Given the description of an element on the screen output the (x, y) to click on. 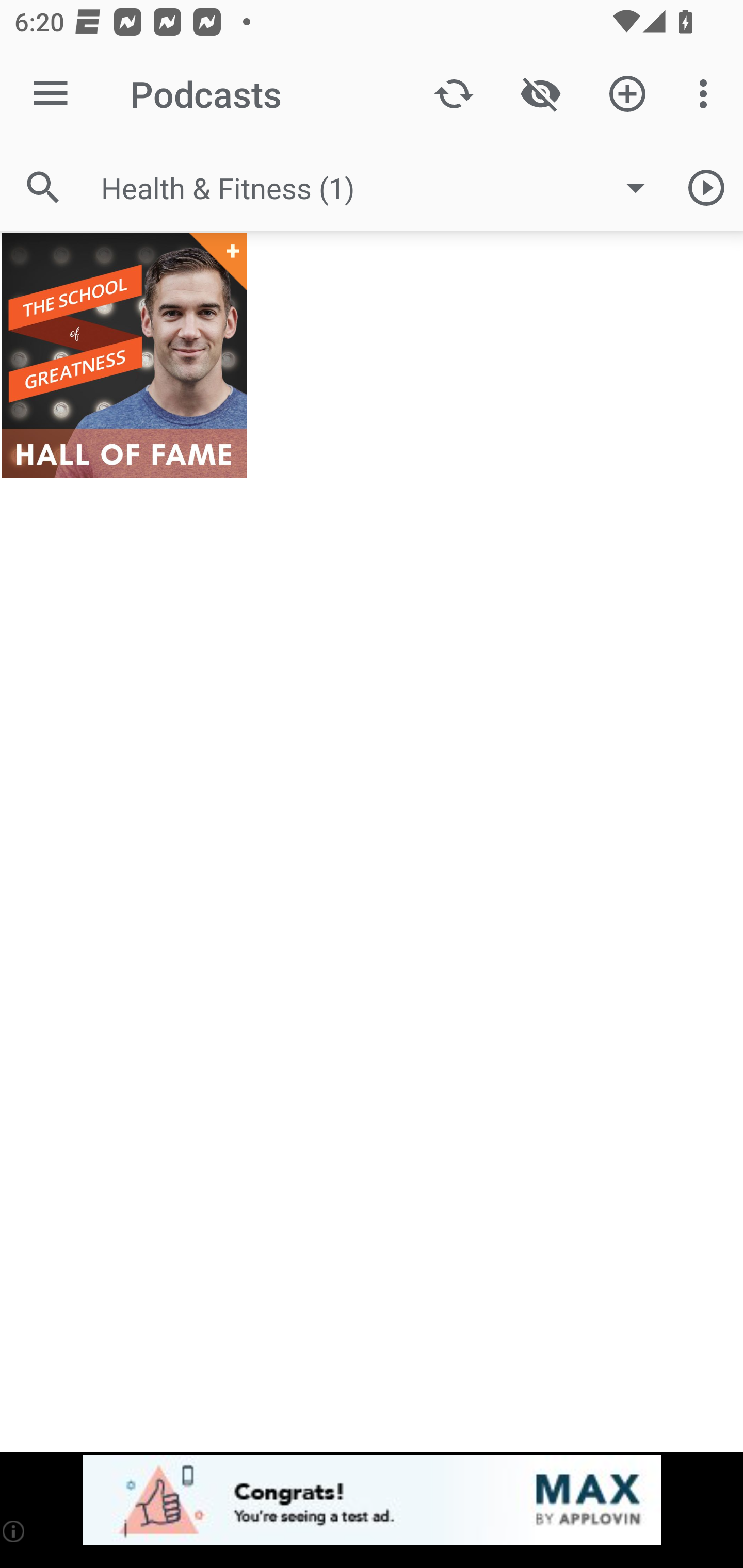
Open navigation sidebar (50, 93)
Update (453, 93)
Show / Hide played content (540, 93)
Add new Podcast (626, 93)
More options (706, 93)
Search (43, 187)
Health & Fitness (1) (382, 188)
The School of Greatness Hall of Fame + (124, 355)
app-monetization (371, 1500)
(i) (14, 1531)
